Given the description of an element on the screen output the (x, y) to click on. 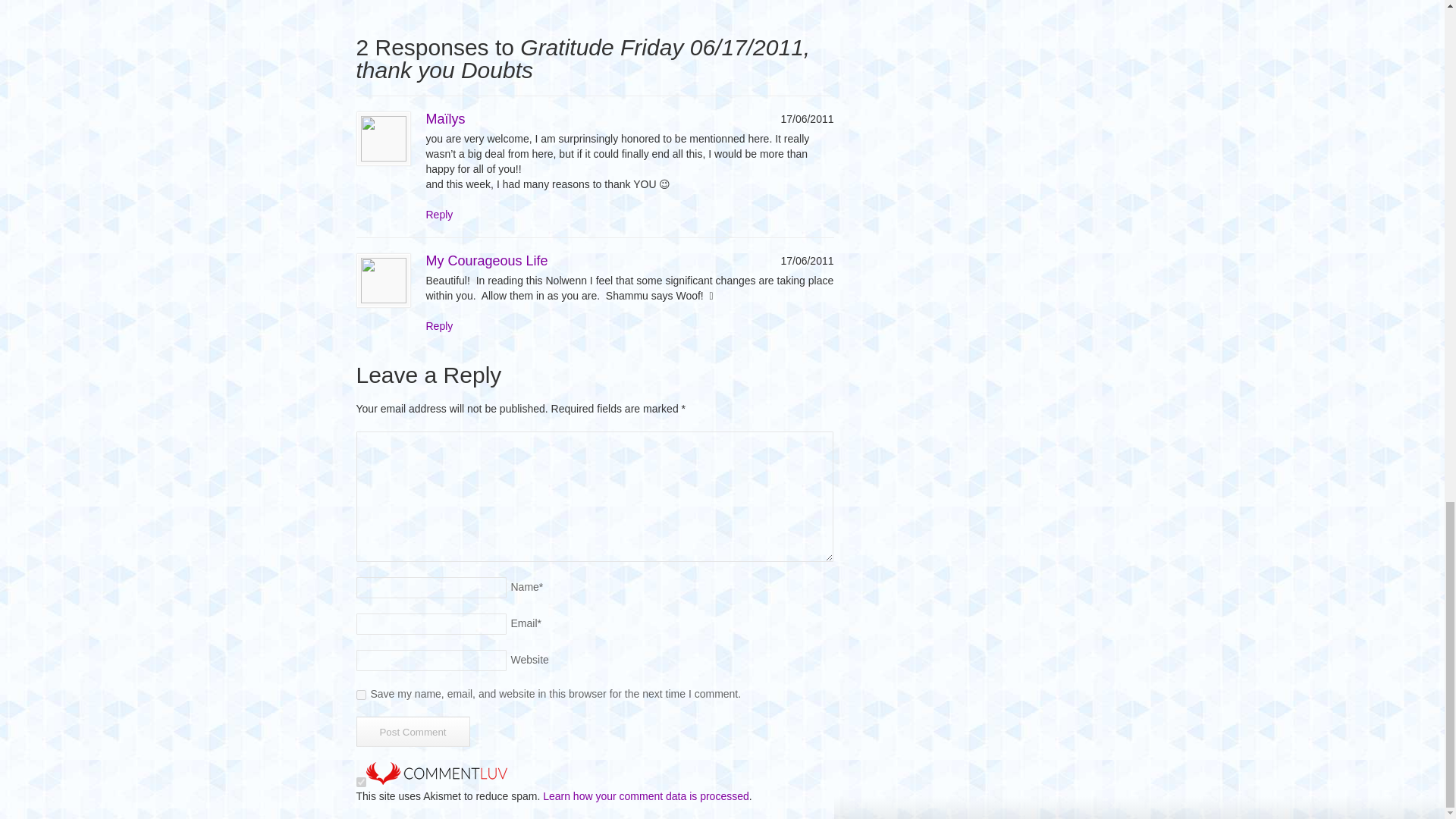
yes (361, 695)
Post Comment (413, 731)
on (361, 782)
